Given the description of an element on the screen output the (x, y) to click on. 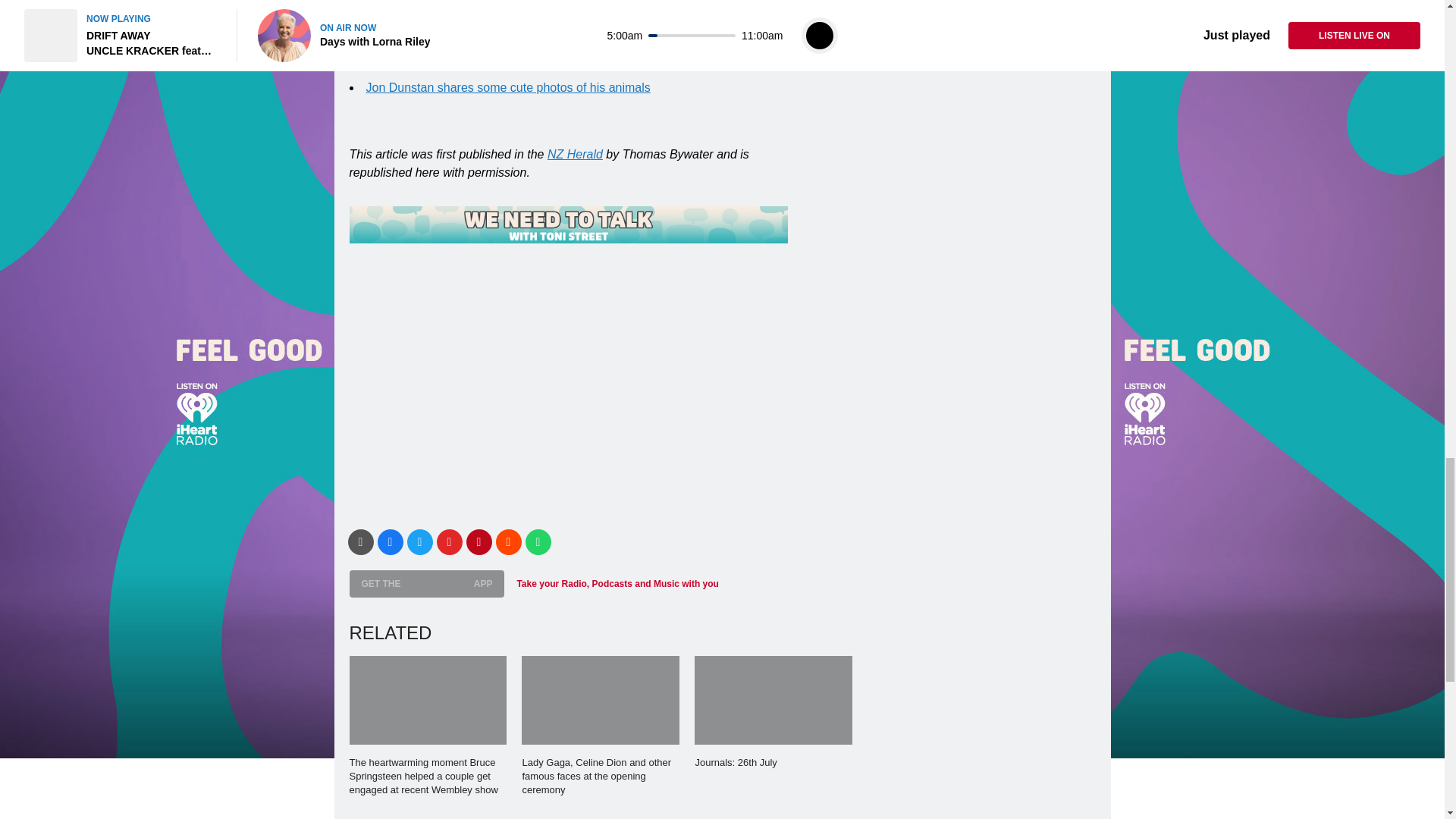
Share with pinterest (478, 542)
Share with reddit (508, 542)
Share with whatsapp (537, 542)
Share with twitter (419, 542)
Share with flipboard (449, 542)
Share with facebook (390, 542)
Share with email (359, 542)
